Given the description of an element on the screen output the (x, y) to click on. 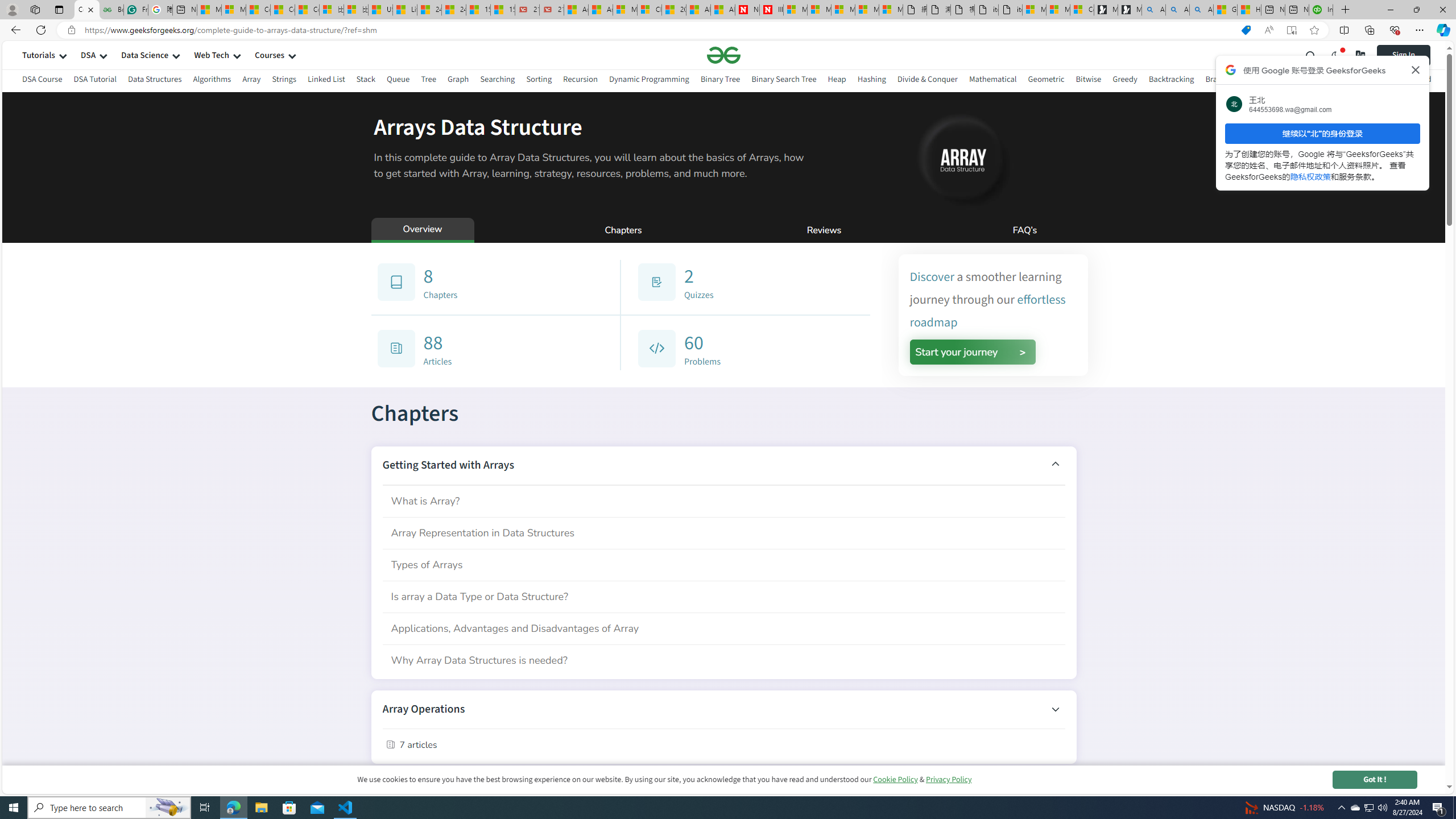
Why Array Data Structures is needed? (723, 660)
What is Array? (723, 500)
Cookie Policy (895, 779)
Alabama high school quarterback dies - Search Videos (1201, 9)
Backtracking (1170, 80)
Courses (268, 55)
Graph (457, 79)
Alabama high school quarterback dies - Search (1153, 9)
Strings (283, 80)
Mathematical (992, 79)
Tree (428, 80)
Branch and Bound (1237, 79)
